Given the description of an element on the screen output the (x, y) to click on. 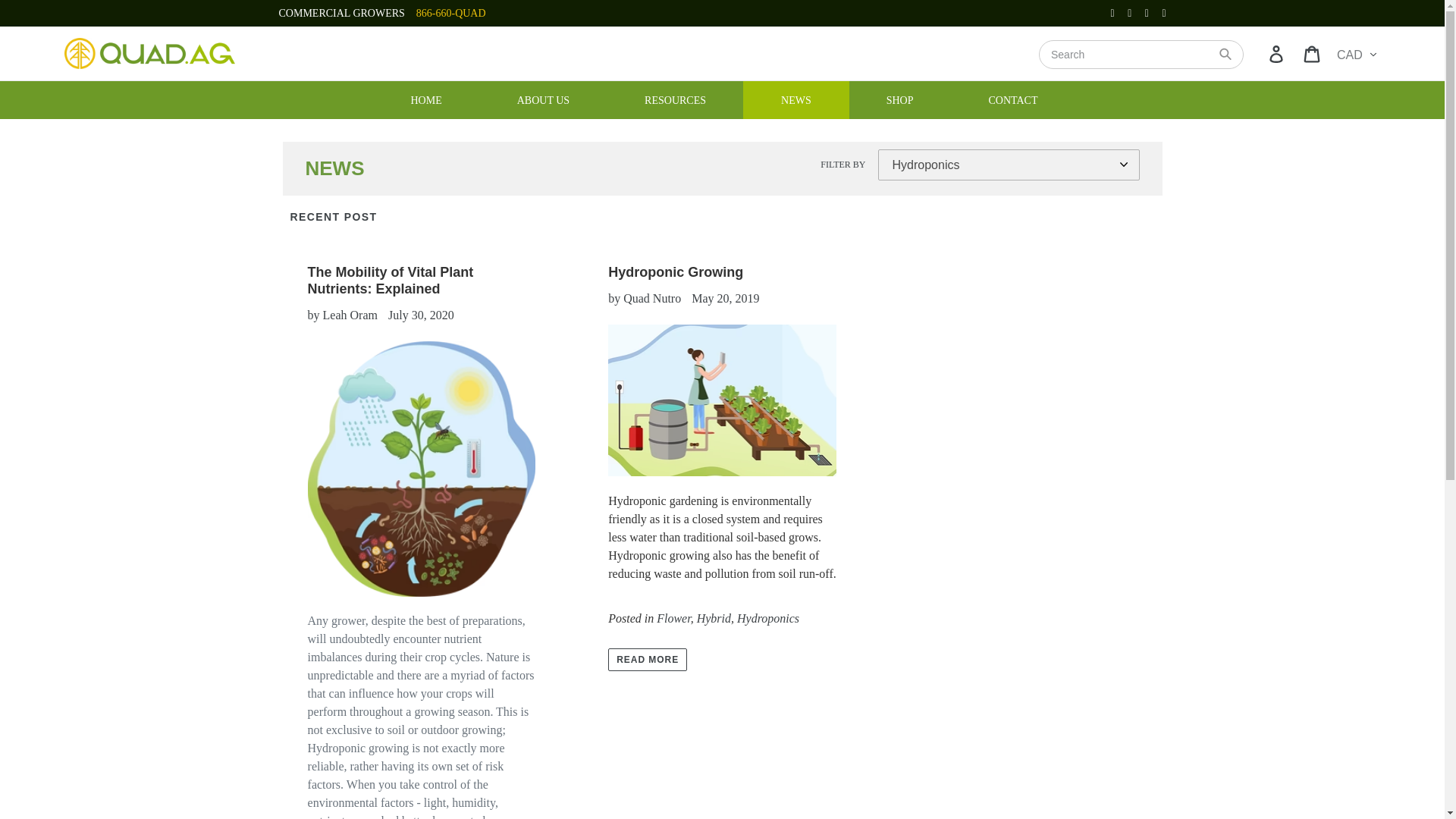
The Mobility of Vital Plant Nutrients: Explained (390, 280)
RESOURCES (675, 99)
Hydroponic Growing (675, 272)
Hydroponics (767, 618)
Hybrid (713, 618)
Log in (1277, 53)
COMMERCIAL GROWERS (341, 12)
SHOP (900, 99)
Submit (1243, 52)
NEWS (795, 99)
